Given the description of an element on the screen output the (x, y) to click on. 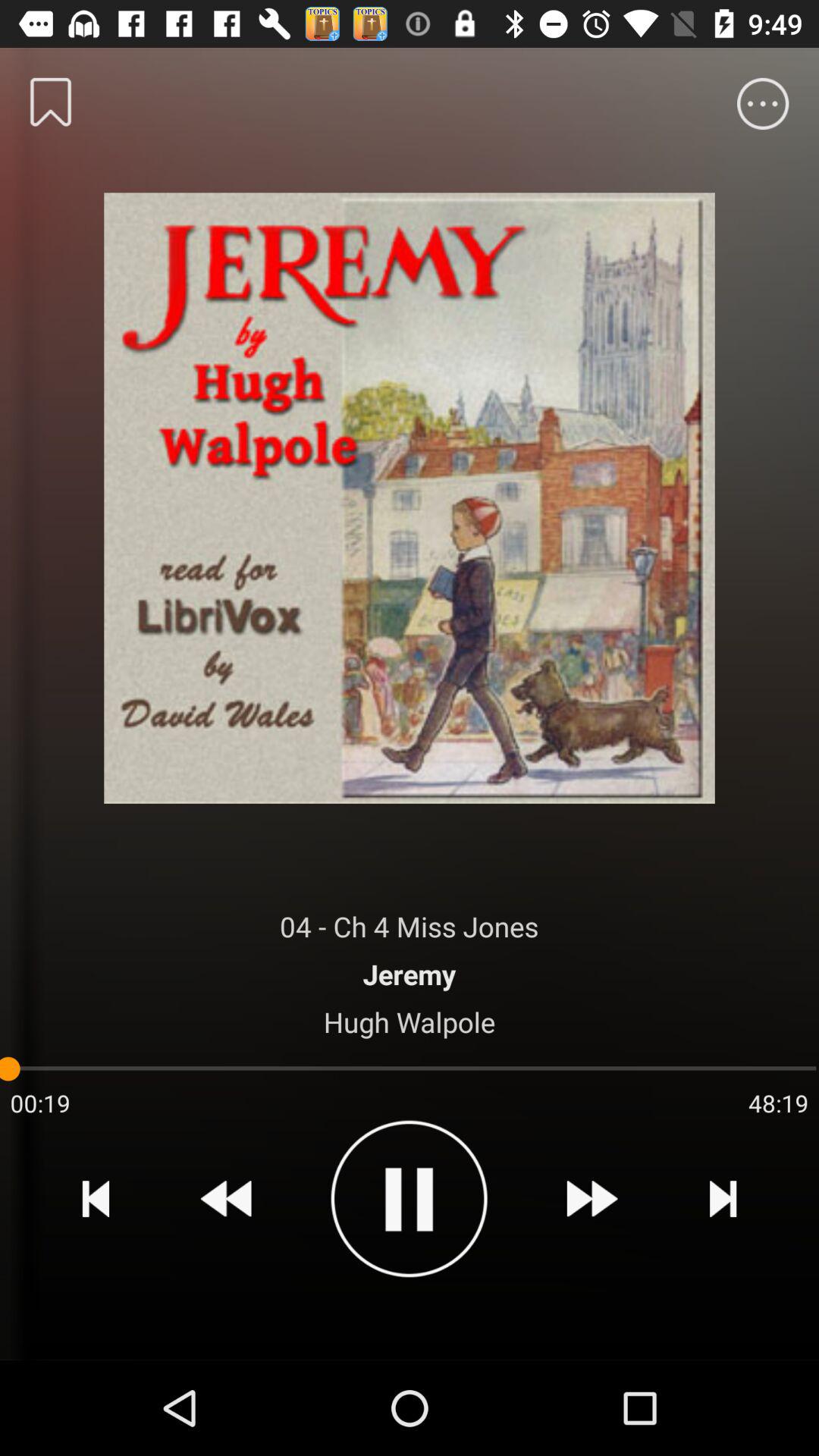
press icon below the 04 ch 4 item (409, 974)
